Given the description of an element on the screen output the (x, y) to click on. 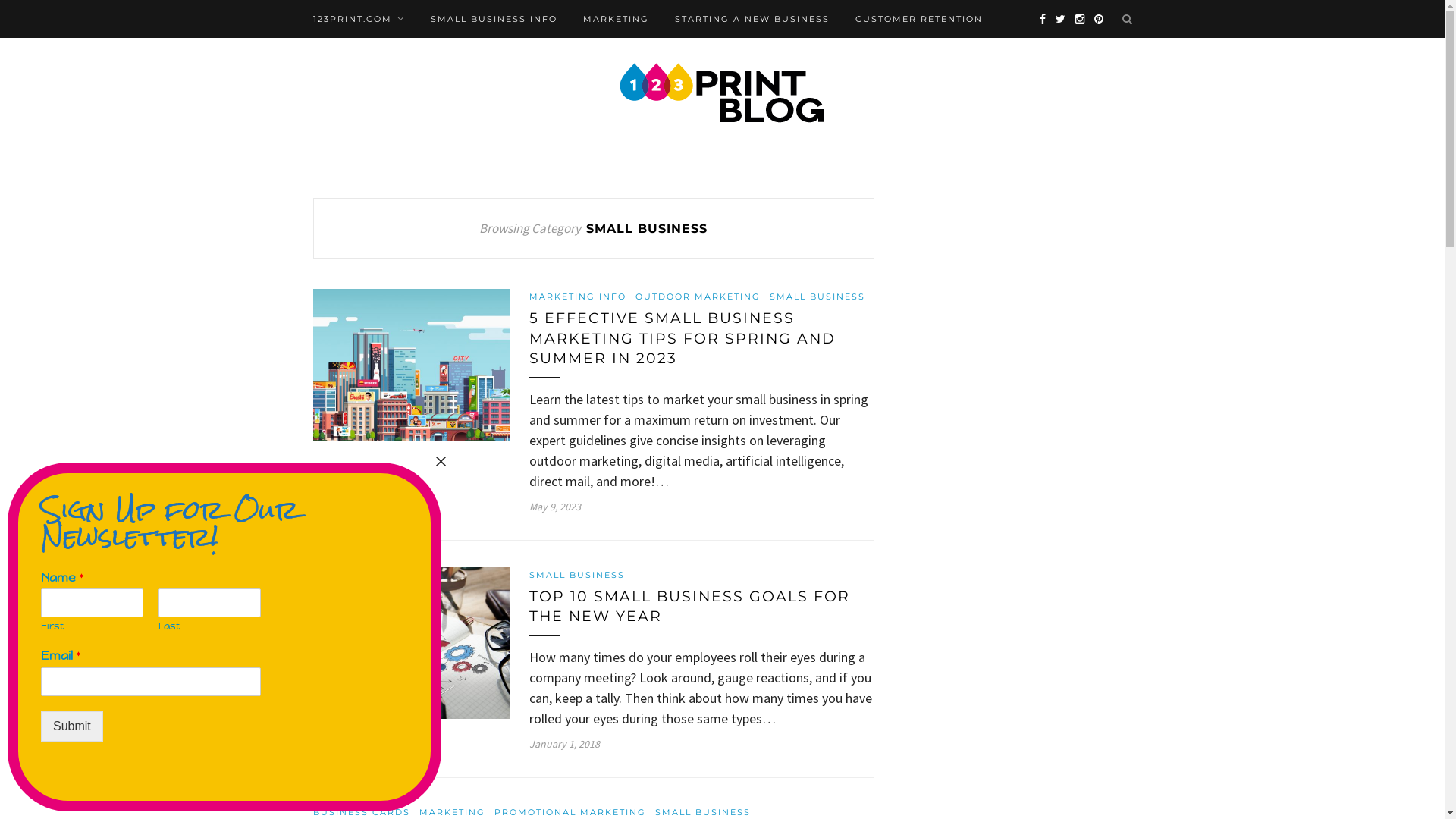
CUSTOMER RETENTION Element type: text (918, 18)
STARTING A NEW BUSINESS Element type: text (751, 18)
TOP 10 SMALL BUSINESS GOALS FOR THE NEW YEAR Element type: text (689, 606)
SMALL BUSINESS Element type: text (576, 574)
SMALL BUSINESS INFO Element type: text (493, 18)
PROMOTIONAL MARKETING Element type: text (570, 811)
SMALL BUSINESS Element type: text (702, 811)
123PRINT.COM Element type: text (358, 18)
MARKETING INFO Element type: text (577, 296)
Submit Element type: text (71, 726)
BUSINESS CARDS Element type: text (360, 811)
MARKETING Element type: text (615, 18)
SMALL BUSINESS Element type: text (816, 296)
OUTDOOR MARKETING Element type: text (697, 296)
MARKETING Element type: text (451, 811)
